Given the description of an element on the screen output the (x, y) to click on. 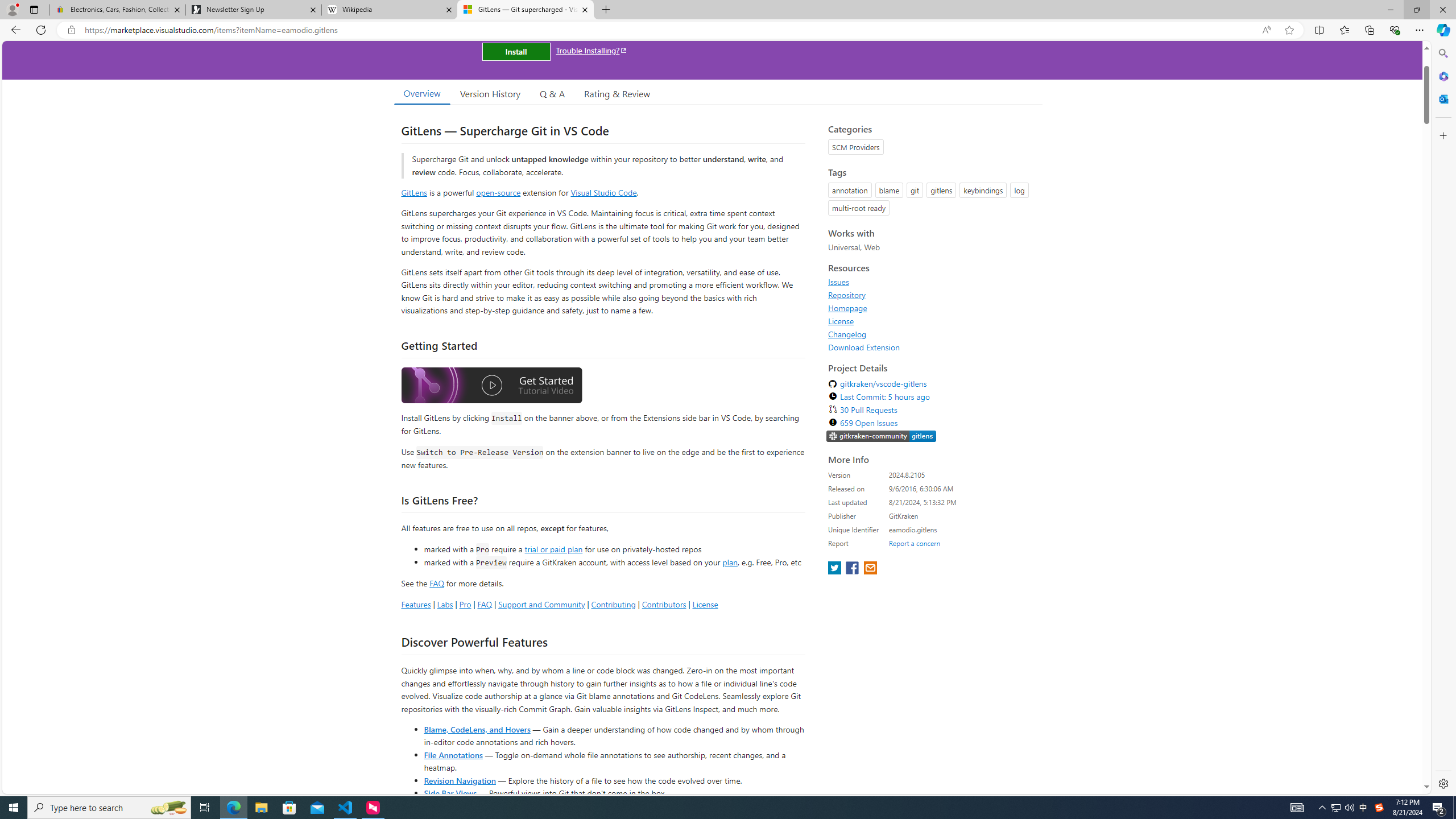
Visual Studio Code (603, 192)
License (840, 320)
Issues (931, 281)
Repository (931, 294)
Repository (847, 294)
